Given the description of an element on the screen output the (x, y) to click on. 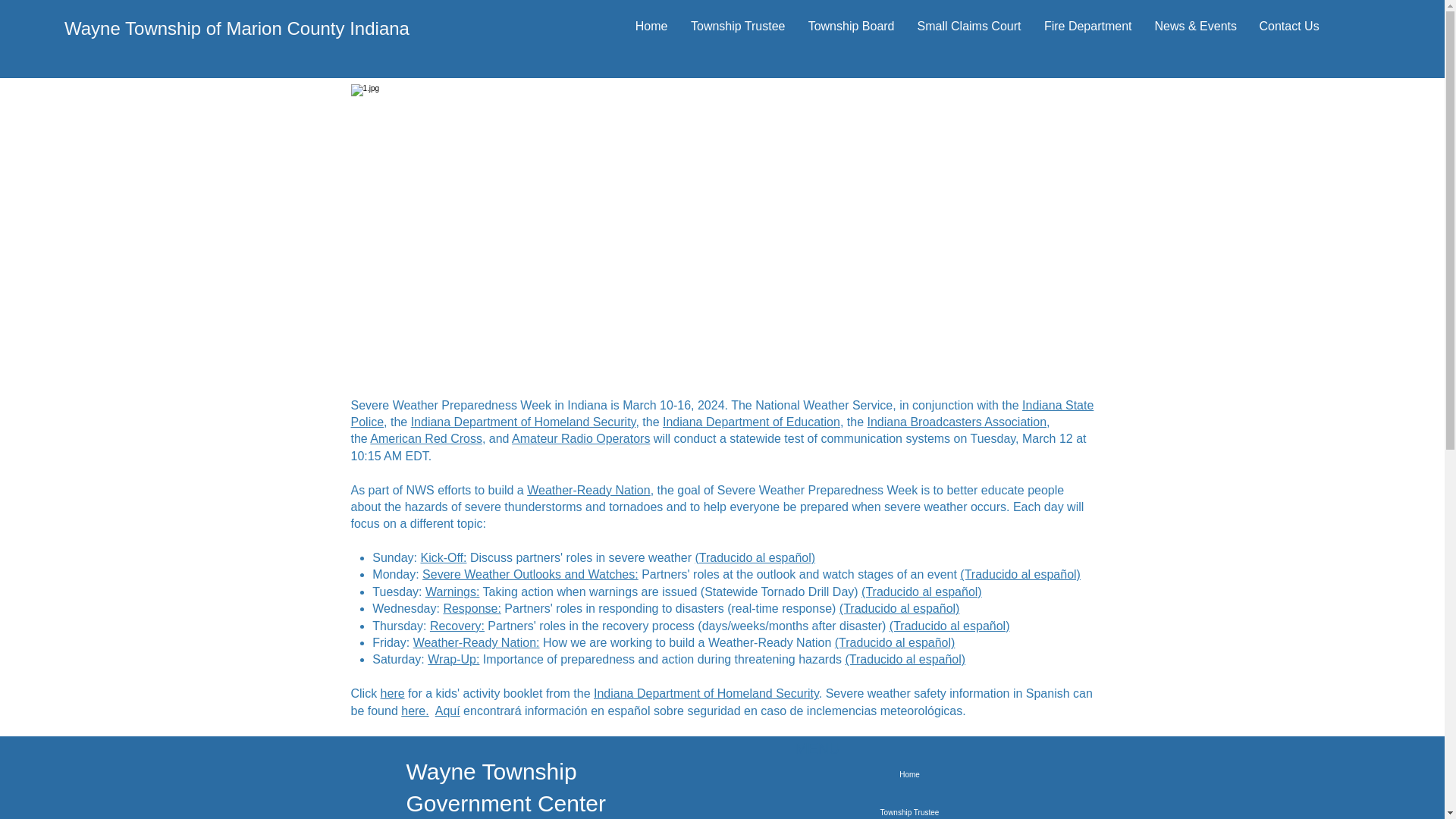
Indiana Department of Education (751, 421)
Kick-Off: (442, 557)
Weather-Ready Nation (588, 490)
Indiana State Police (721, 413)
Small Claims Court (968, 26)
Contact Us (1288, 26)
Township Board (850, 26)
American Red Cross (425, 438)
Indiana Broadcasters Association (956, 421)
Indiana Department of Homeland Security (523, 421)
Township Trustee (737, 26)
Fire Department (1087, 26)
Amateur Radio Operators (580, 438)
Home (650, 26)
